Given the description of an element on the screen output the (x, y) to click on. 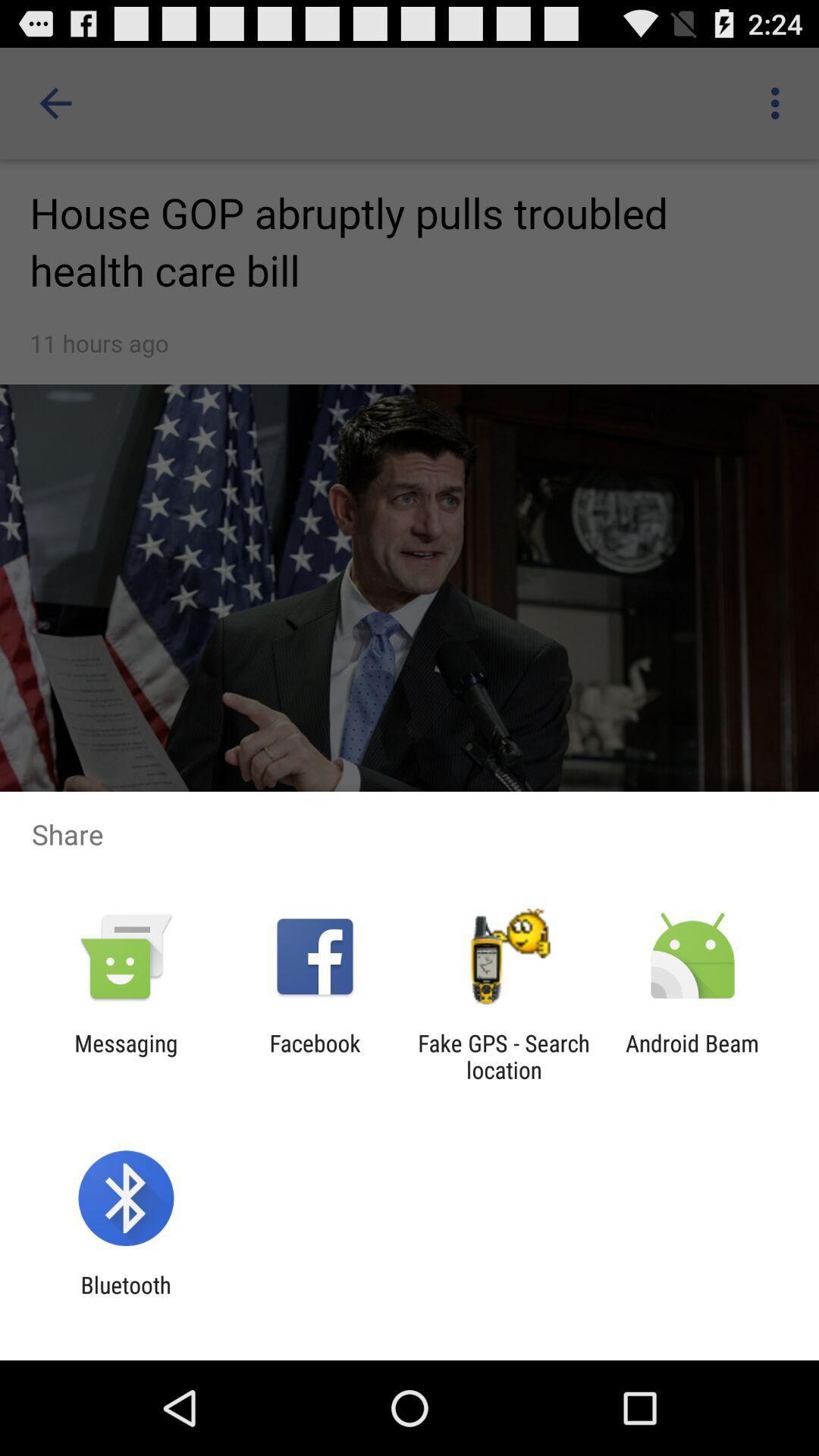
swipe to the facebook (314, 1056)
